Given the description of an element on the screen output the (x, y) to click on. 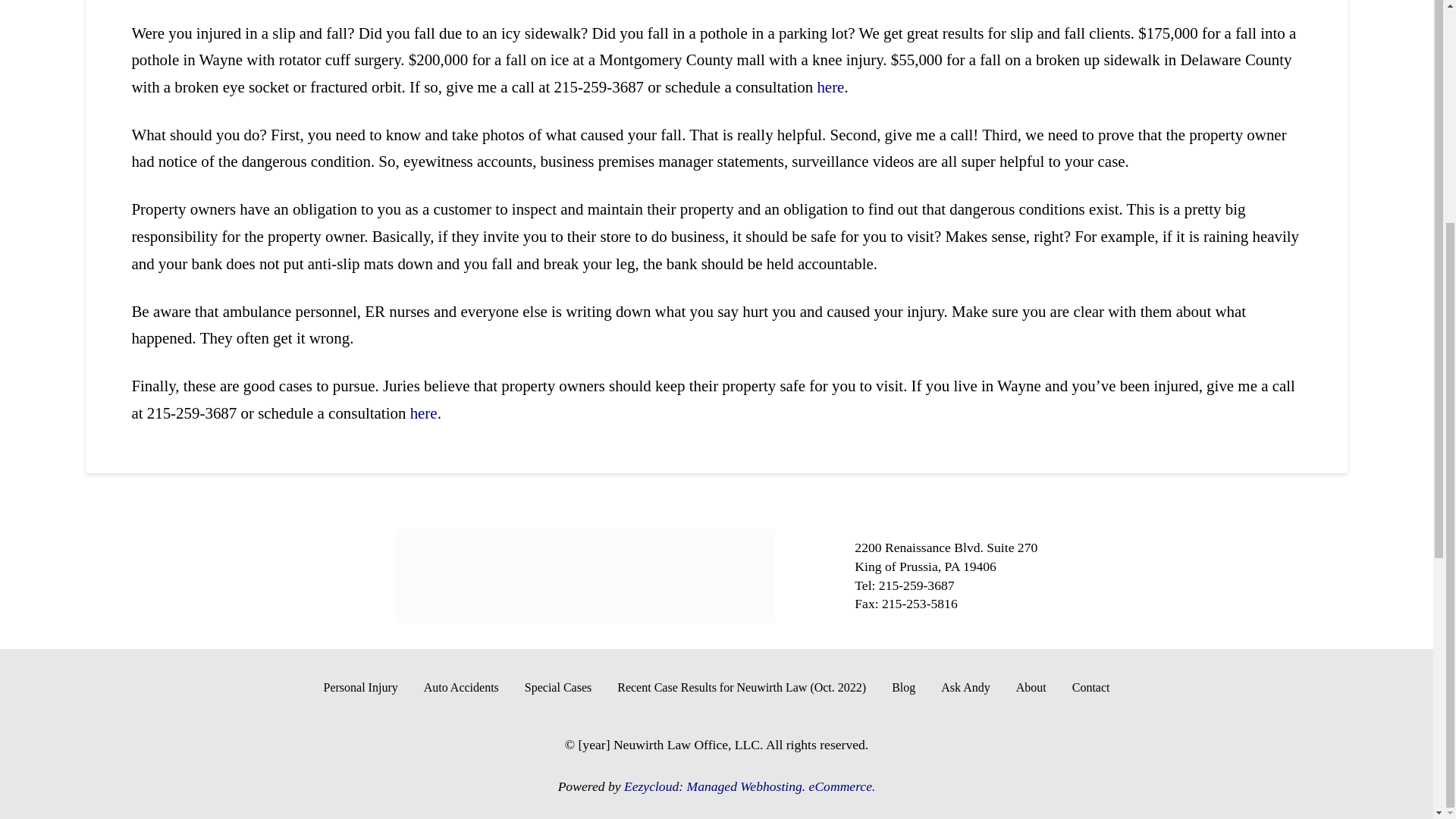
Contact (1090, 687)
here (424, 413)
Blog (903, 687)
Special Cases (558, 687)
Auto Accidents (461, 687)
About (1031, 687)
here (830, 86)
Eezycloud: Managed Webhosting. eCommerce. (749, 785)
Personal Injury (360, 687)
Ask Andy (965, 687)
